Given the description of an element on the screen output the (x, y) to click on. 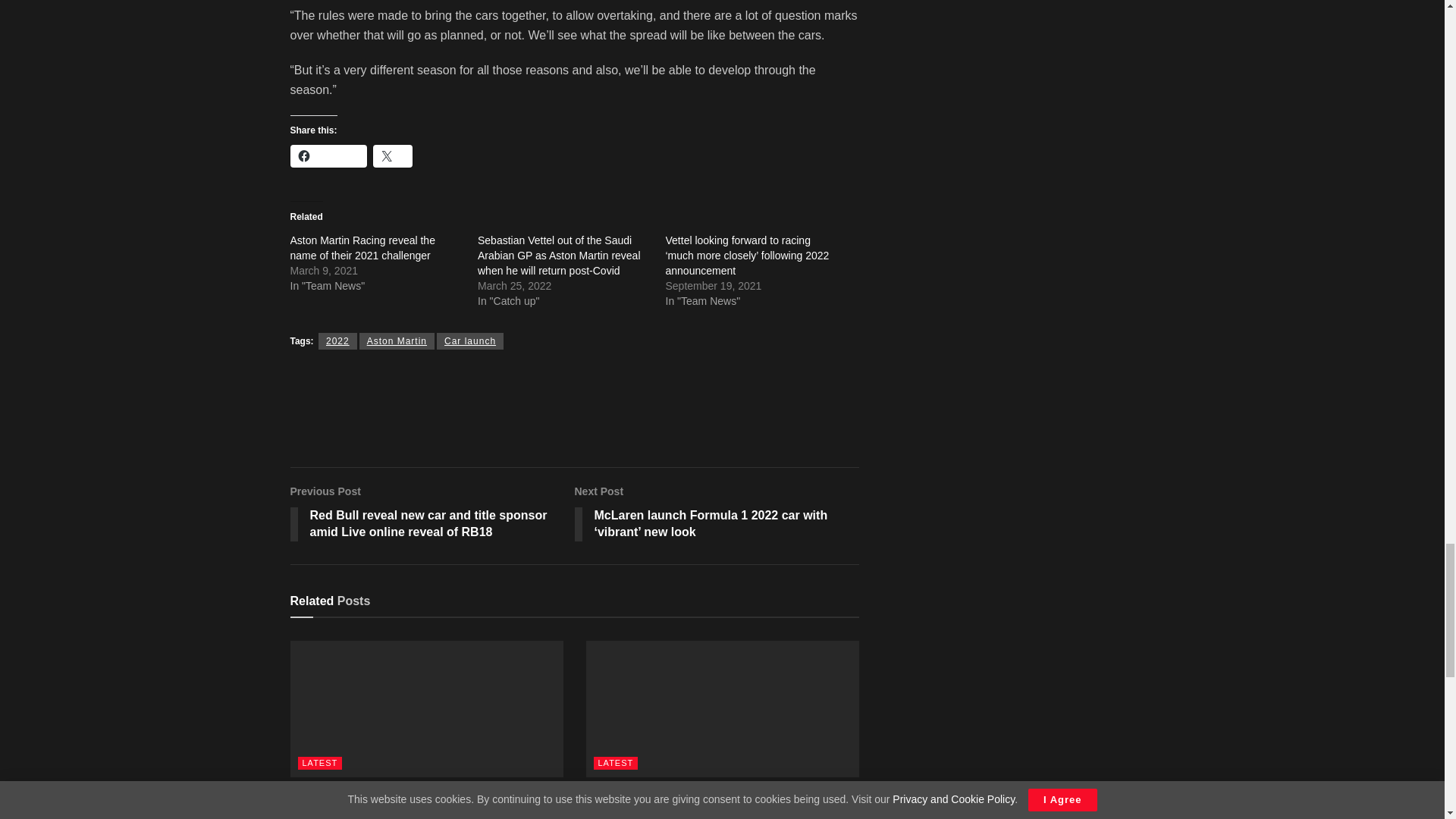
Click to share on Facebook (327, 155)
Click to share on X (392, 155)
Aston Martin Racing reveal the name of their 2021 challenger (361, 247)
